Given the description of an element on the screen output the (x, y) to click on. 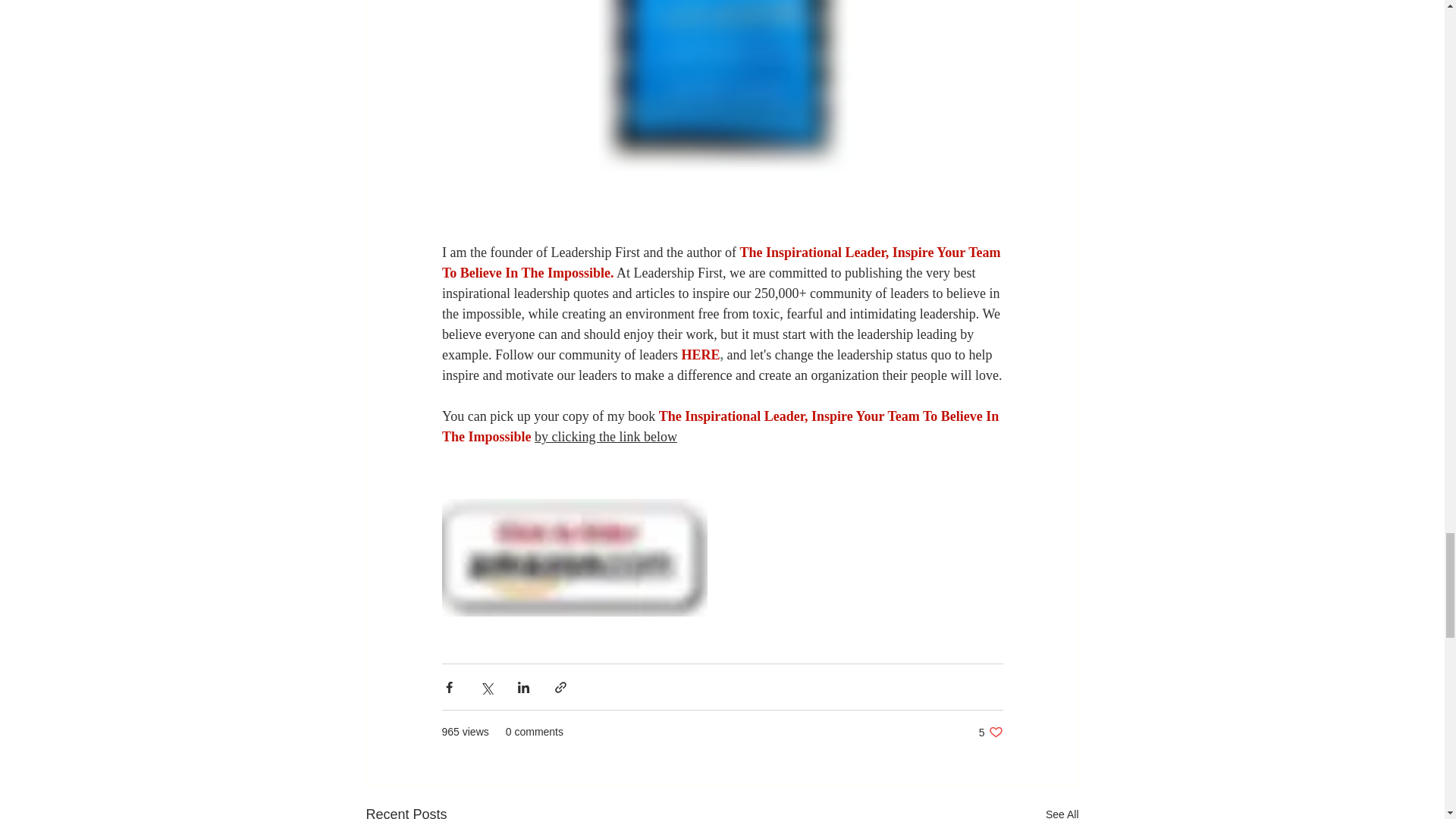
See All (990, 731)
HERE (1061, 811)
